Given the description of an element on the screen output the (x, y) to click on. 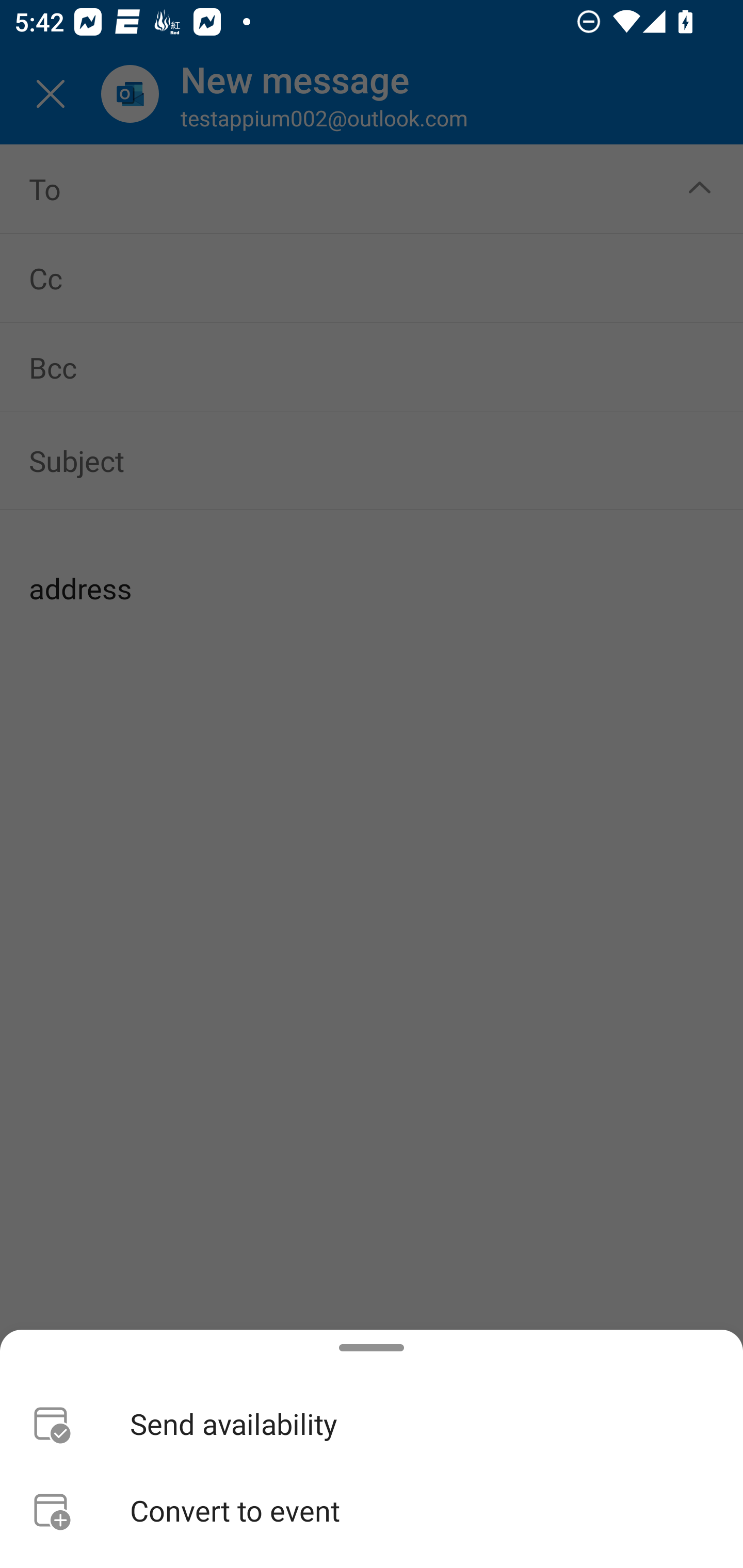
Send availability (371, 1423)
Convert to event (371, 1510)
